Given the description of an element on the screen output the (x, y) to click on. 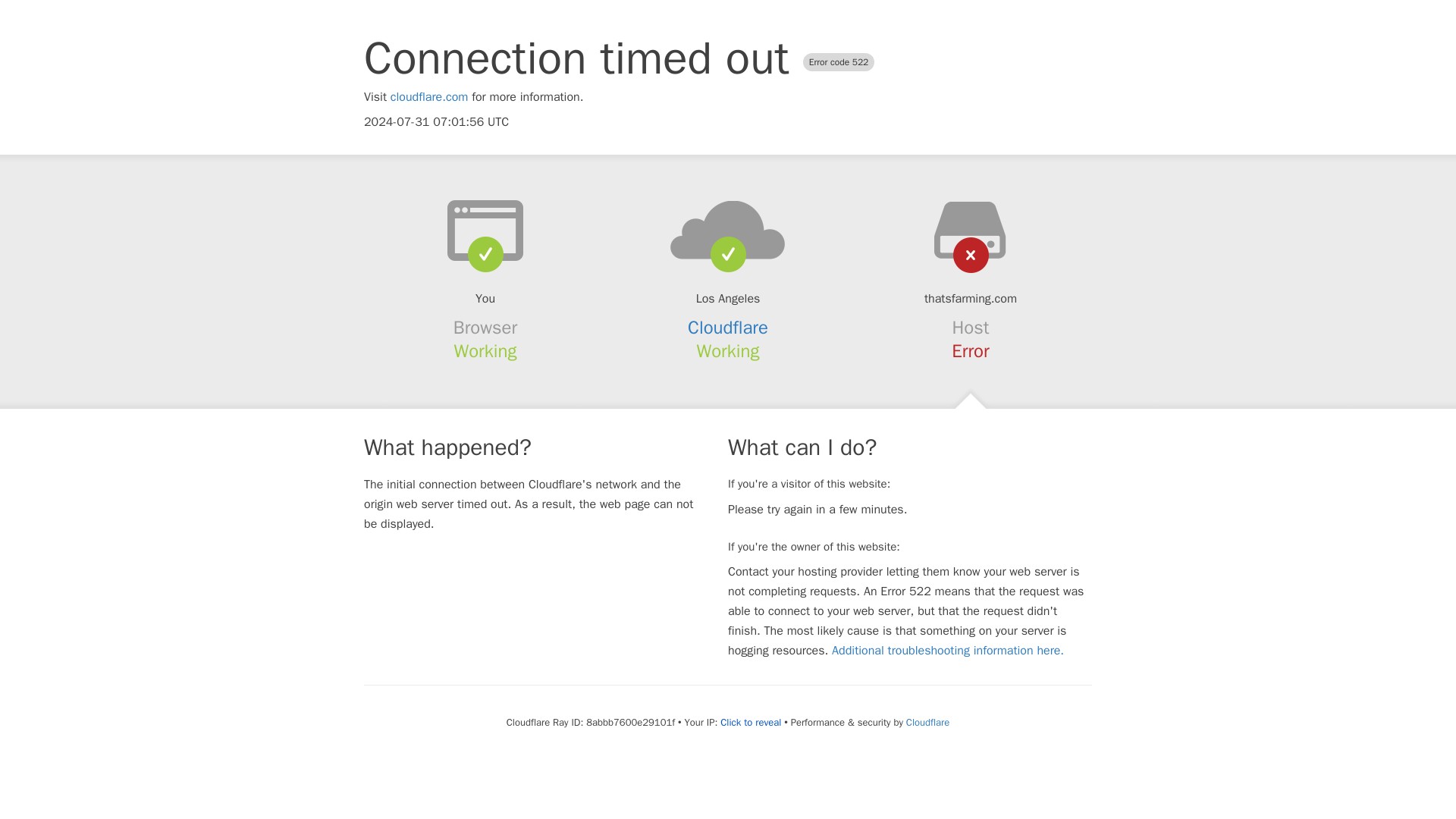
Click to reveal (750, 722)
Cloudflare (927, 721)
Cloudflare (727, 327)
cloudflare.com (429, 96)
Additional troubleshooting information here. (947, 650)
